Given the description of an element on the screen output the (x, y) to click on. 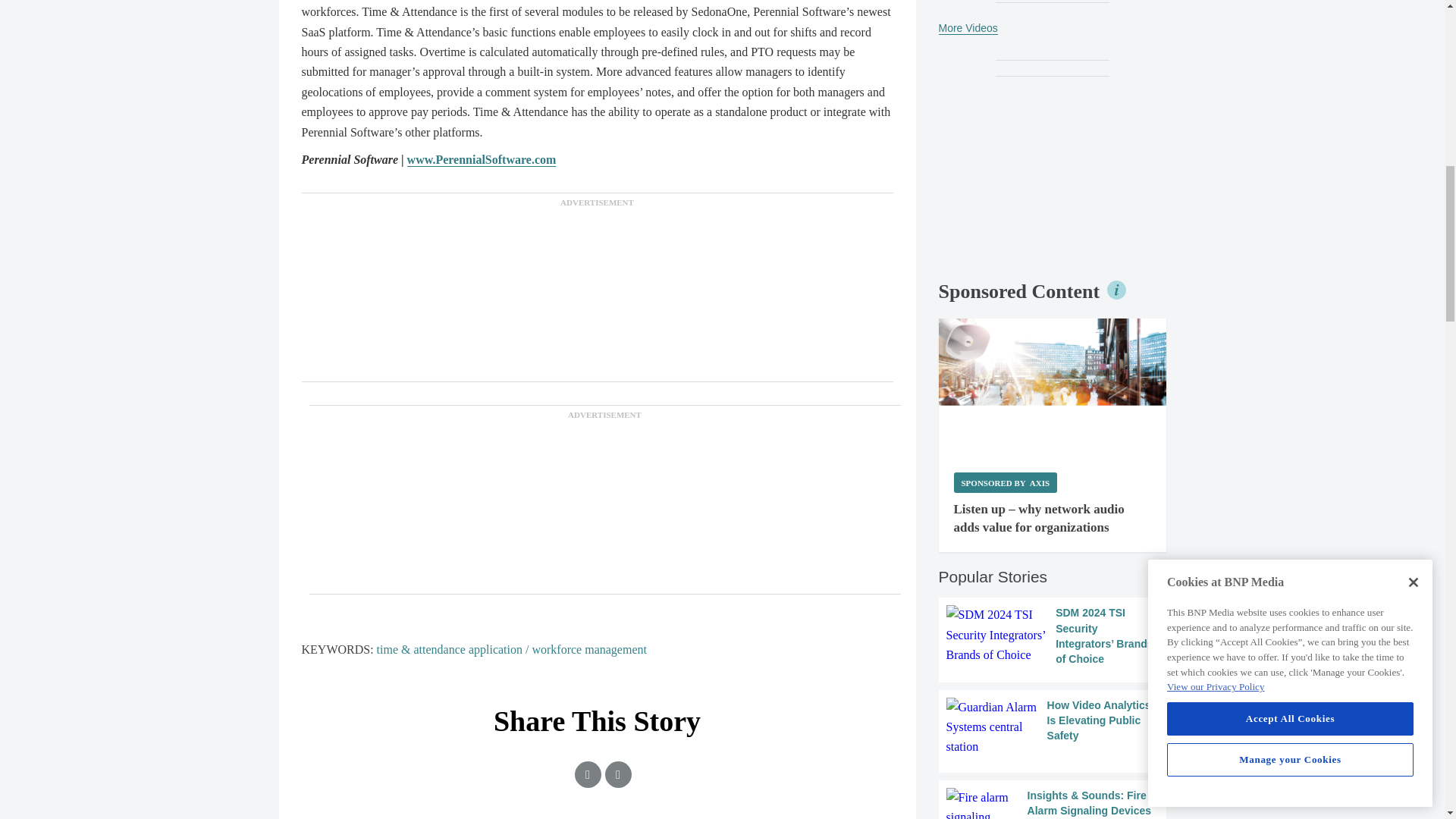
How Video Analytics Is Elevating Public Safety (1052, 727)
Axis Communications (1052, 387)
Sponsored by Axis  (1005, 482)
